Given the description of an element on the screen output the (x, y) to click on. 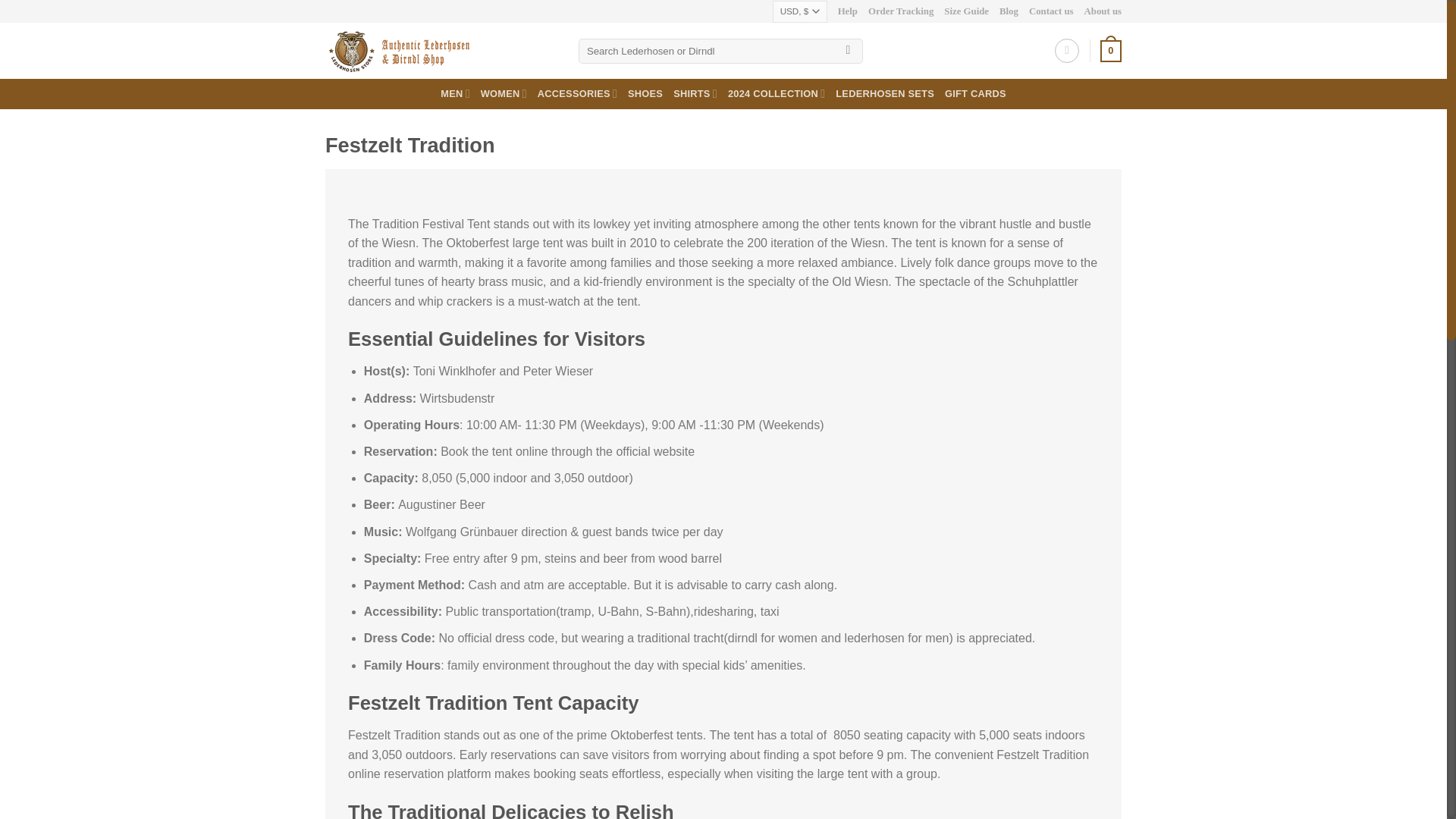
WOMEN (503, 93)
Lederhosen Store - Authentic Lederhosen and Dirndl Store (440, 50)
Size Guide (965, 11)
MEN (455, 93)
ACCESSORIES (577, 93)
Search (847, 51)
SHOES (644, 93)
Contact us (1051, 11)
Order Tracking (900, 11)
